Given the description of an element on the screen output the (x, y) to click on. 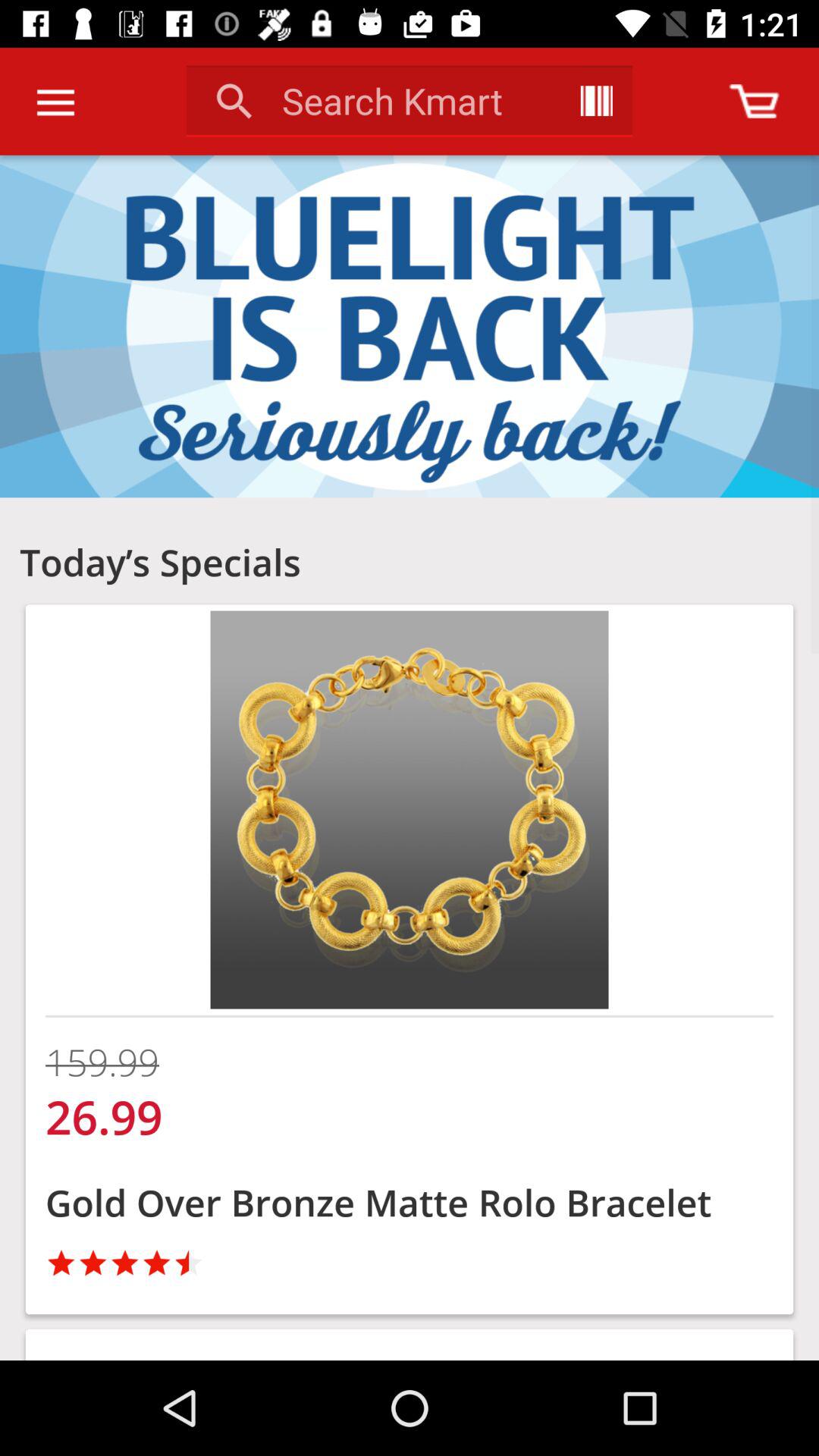
see your cart current status (754, 101)
